Given the description of an element on the screen output the (x, y) to click on. 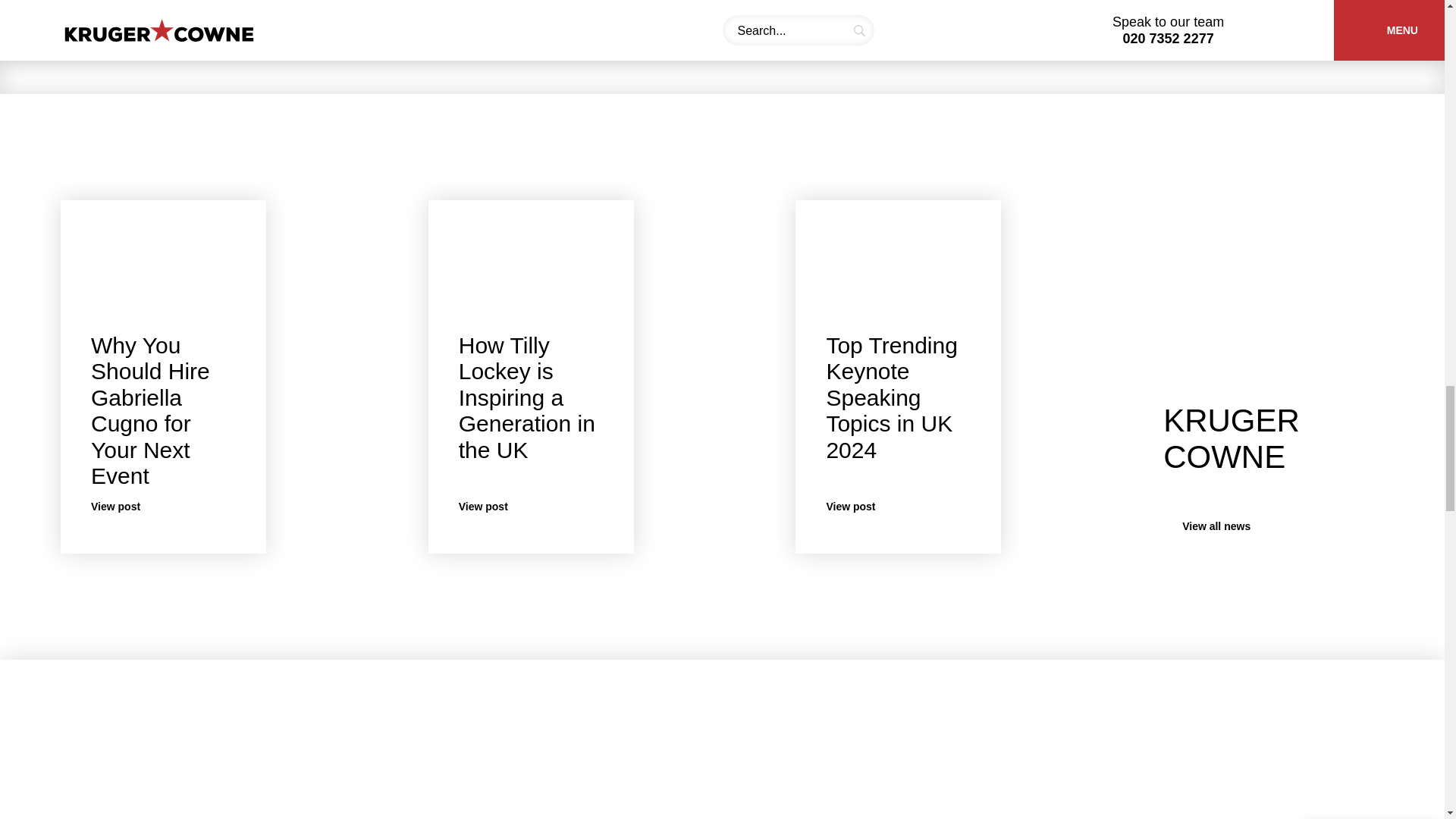
View post (162, 506)
View post (1286, 9)
View all news (531, 506)
How Tilly Lockey is Inspiring a Generation in the UK (1231, 526)
Top Trending Keynote Speaking Topics in UK 2024 (526, 397)
View post (890, 397)
